Given the description of an element on the screen output the (x, y) to click on. 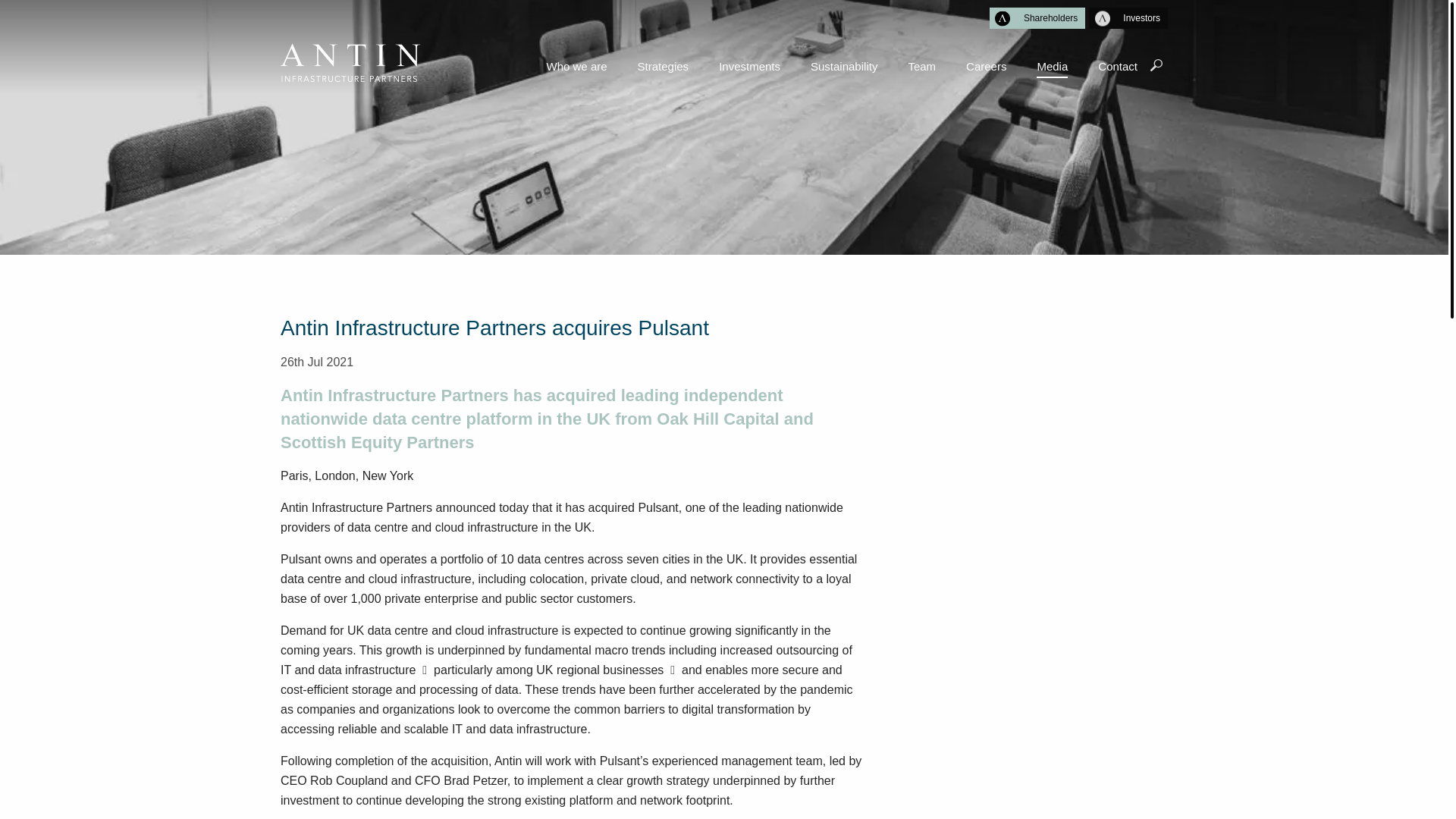
Shareholders (1037, 17)
Strategies (663, 71)
Investments (748, 71)
Who we are (577, 71)
Investors (1128, 17)
